Given the description of an element on the screen output the (x, y) to click on. 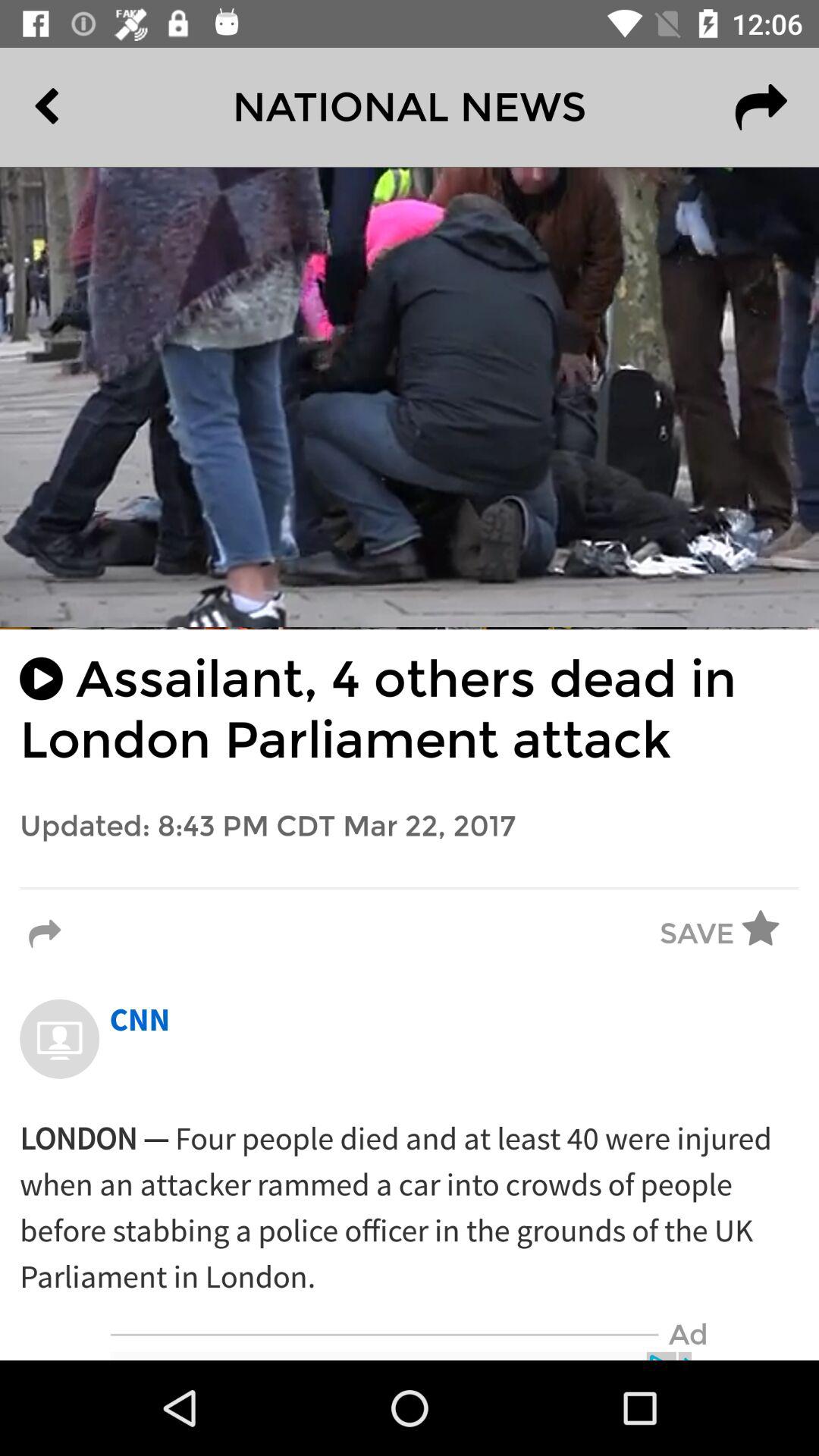
select cnn icon (139, 1021)
